Given the description of an element on the screen output the (x, y) to click on. 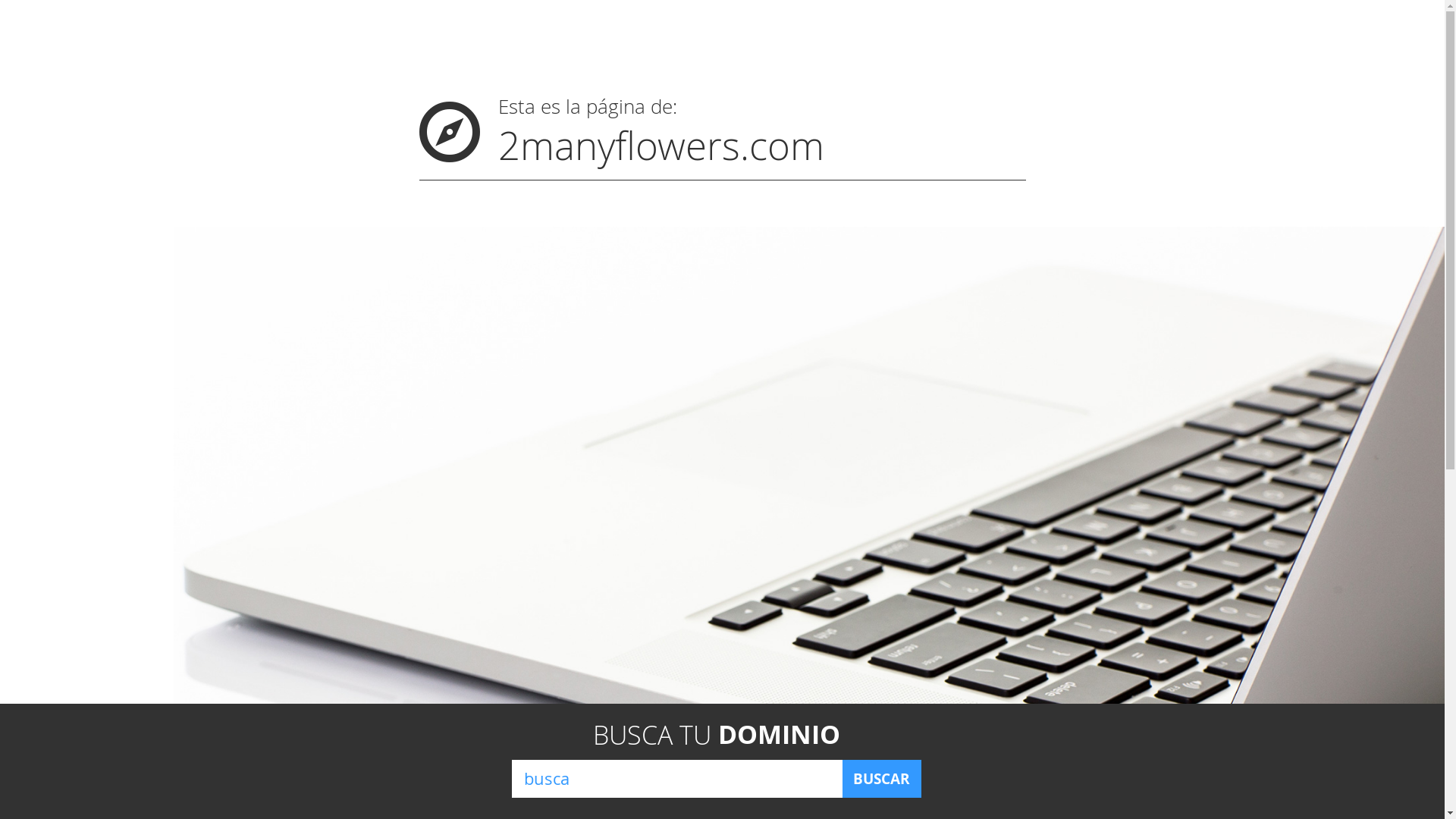
BUSCAR Element type: text (880, 778)
